Given the description of an element on the screen output the (x, y) to click on. 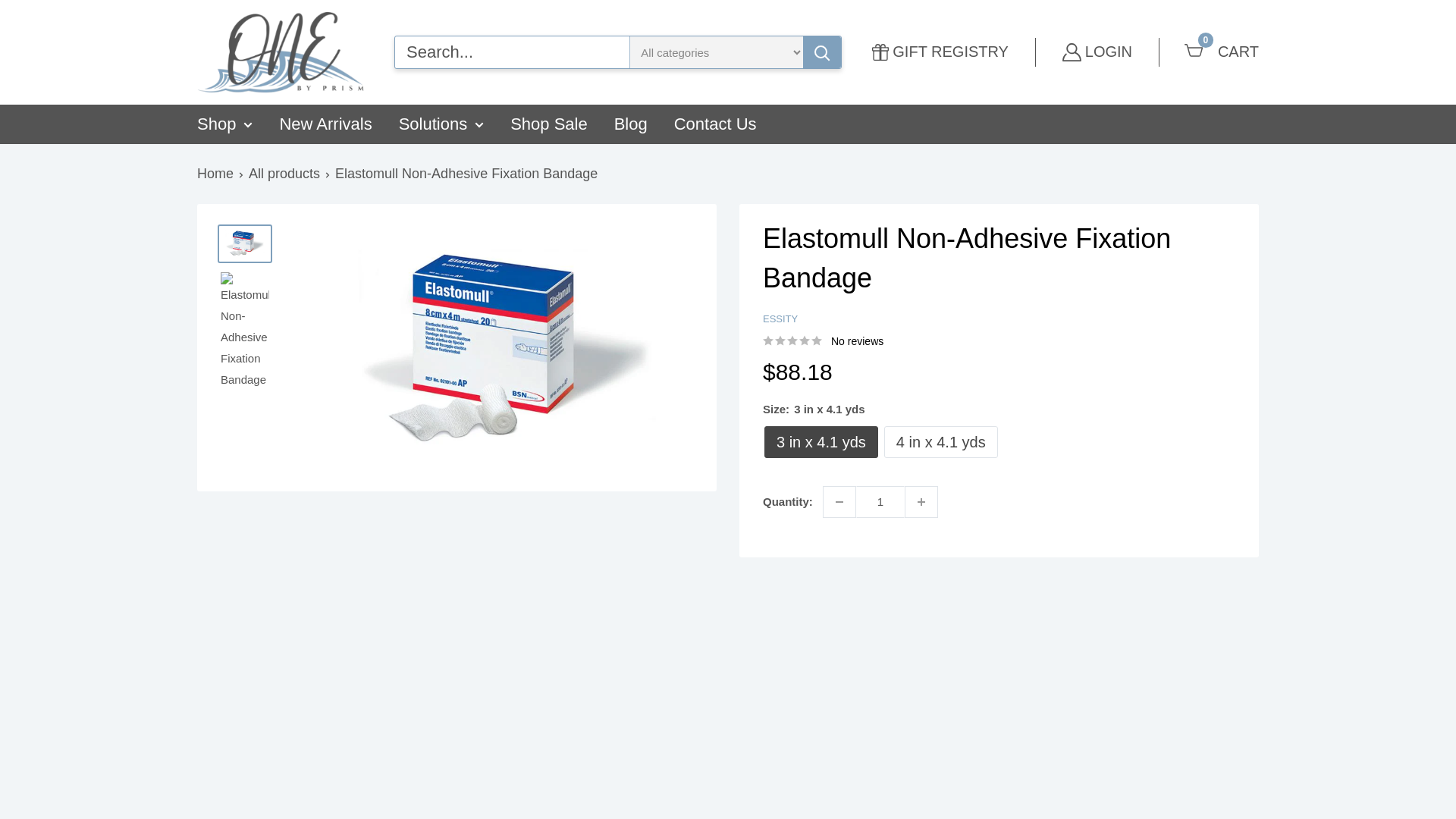
LOGIN (1097, 51)
Decrease quantity by 1 (1222, 51)
One by Prism (839, 501)
3 in x 4.1 yds (280, 52)
Increase quantity by 1 (820, 441)
4 in x 4.1 yds (920, 501)
GIFT REGISTRY (940, 441)
1 (940, 51)
